Given the description of an element on the screen output the (x, y) to click on. 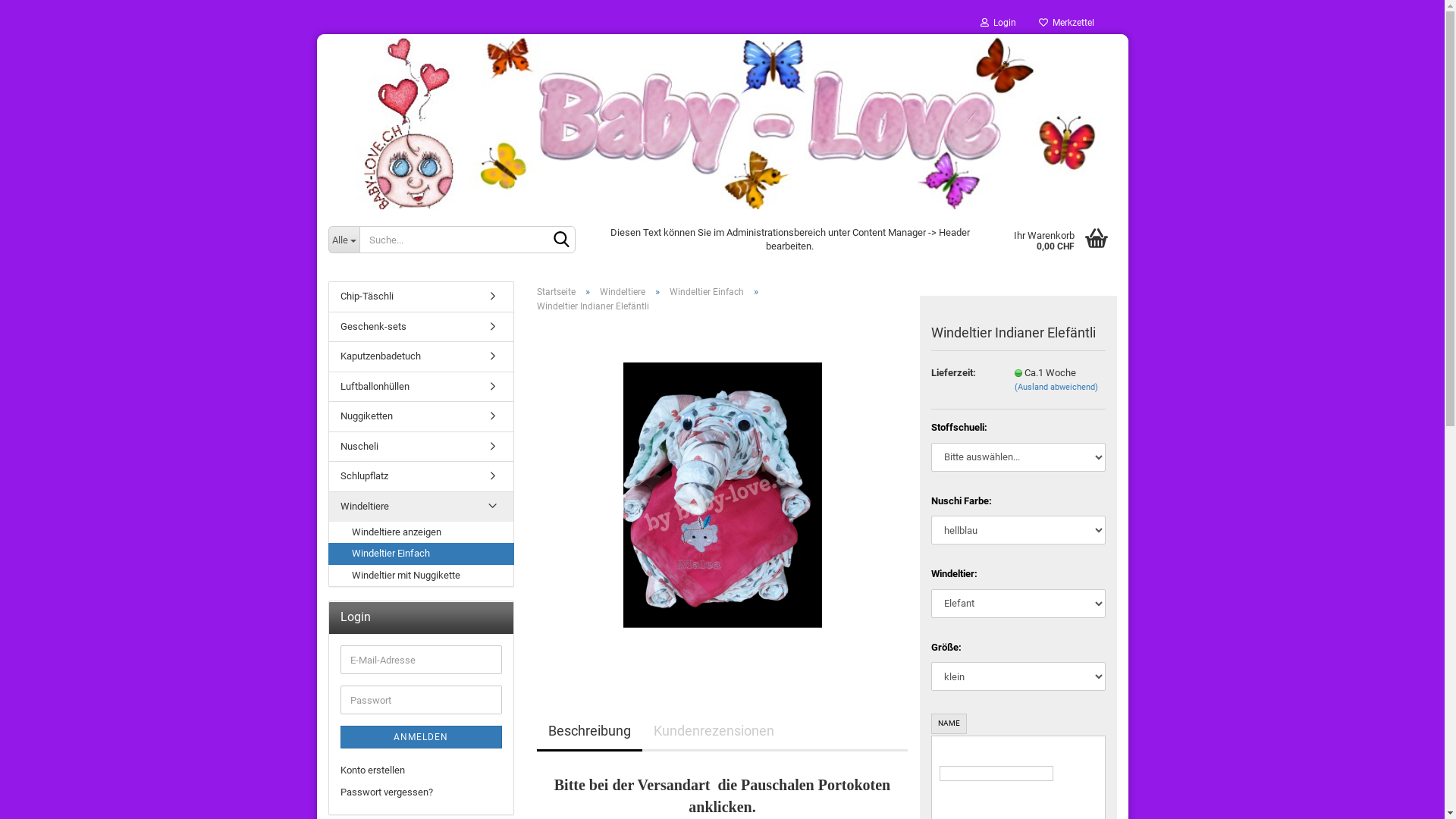
Kaputzenbadetuch Element type: text (421, 356)
Baby Love Element type: hover (721, 121)
ANMELDEN Element type: text (420, 736)
Nuscheli Element type: text (421, 446)
 Login Element type: text (998, 22)
Ihr Warenkorb
0,00 CHF Element type: text (1059, 239)
Kundenrezensionen Element type: text (712, 732)
Windeltiere Element type: text (621, 291)
Passwort vergessen? Element type: text (420, 792)
Windeltier Einfach Element type: text (705, 291)
Windeltier mit Nuggikette Element type: text (421, 575)
Konto erstellen Element type: text (420, 770)
Windeltier Einfach Element type: text (420, 553)
Windeltiere anzeigen Element type: text (421, 532)
Geschenk-sets Element type: text (421, 327)
Beschreibung Element type: text (589, 732)
Alle Element type: text (343, 239)
 Merkzettel Element type: text (1065, 22)
Anmelden Element type: text (914, 196)
Nuggiketten Element type: text (421, 416)
Windeltiere Element type: text (421, 506)
Startseite Element type: text (555, 291)
Schlupflatz Element type: text (421, 476)
(Ausland abweichend) Element type: text (1056, 387)
